Given the description of an element on the screen output the (x, y) to click on. 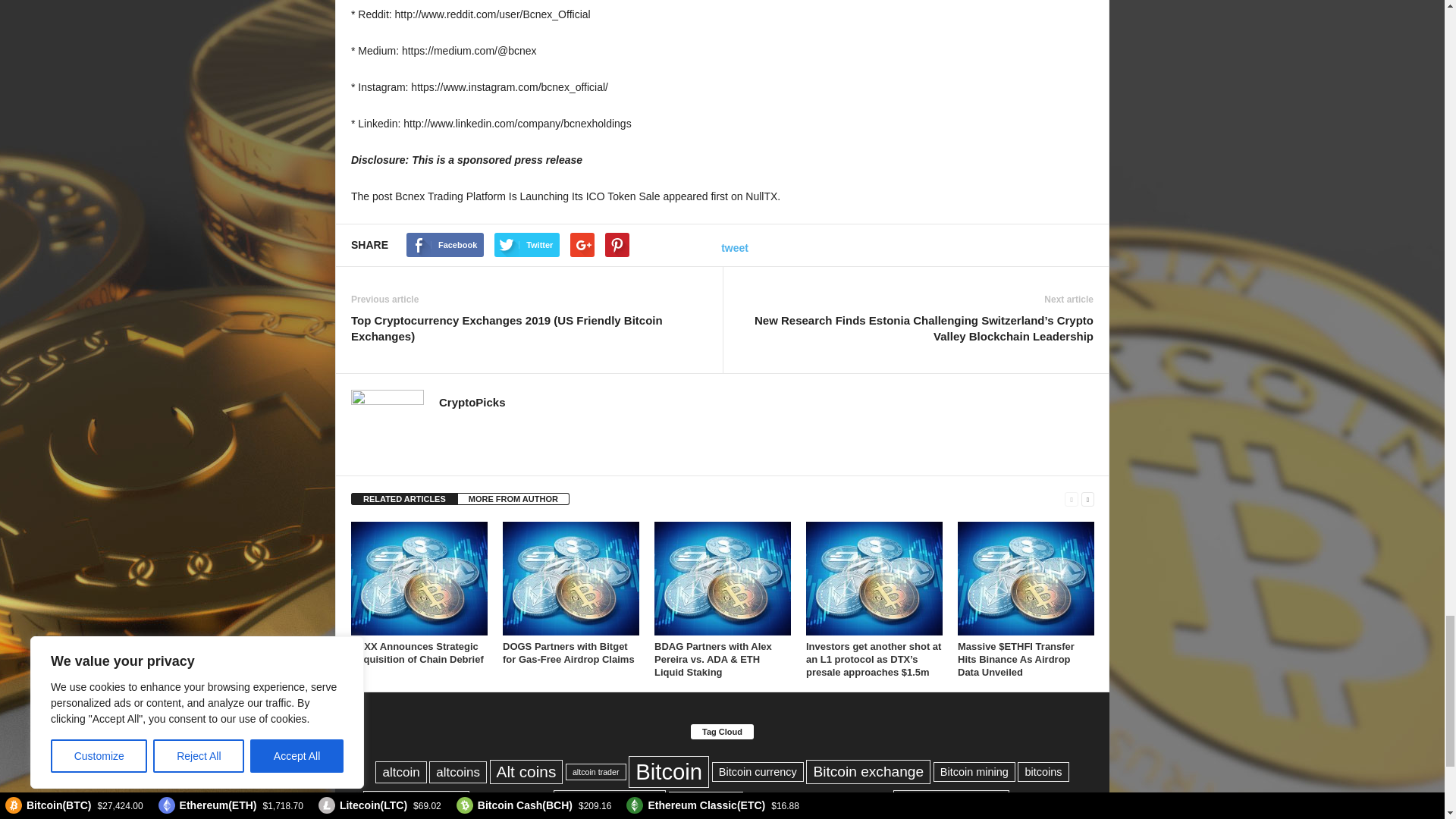
DOGS Partners with Bitget for Gas-Free Airdrop Claims (570, 578)
PEXX Announces Strategic Acquisition of Chain Debrief (418, 578)
DOGS Partners with Bitget for Gas-Free Airdrop Claims (568, 652)
PEXX Announces Strategic Acquisition of Chain Debrief (416, 652)
